Given the description of an element on the screen output the (x, y) to click on. 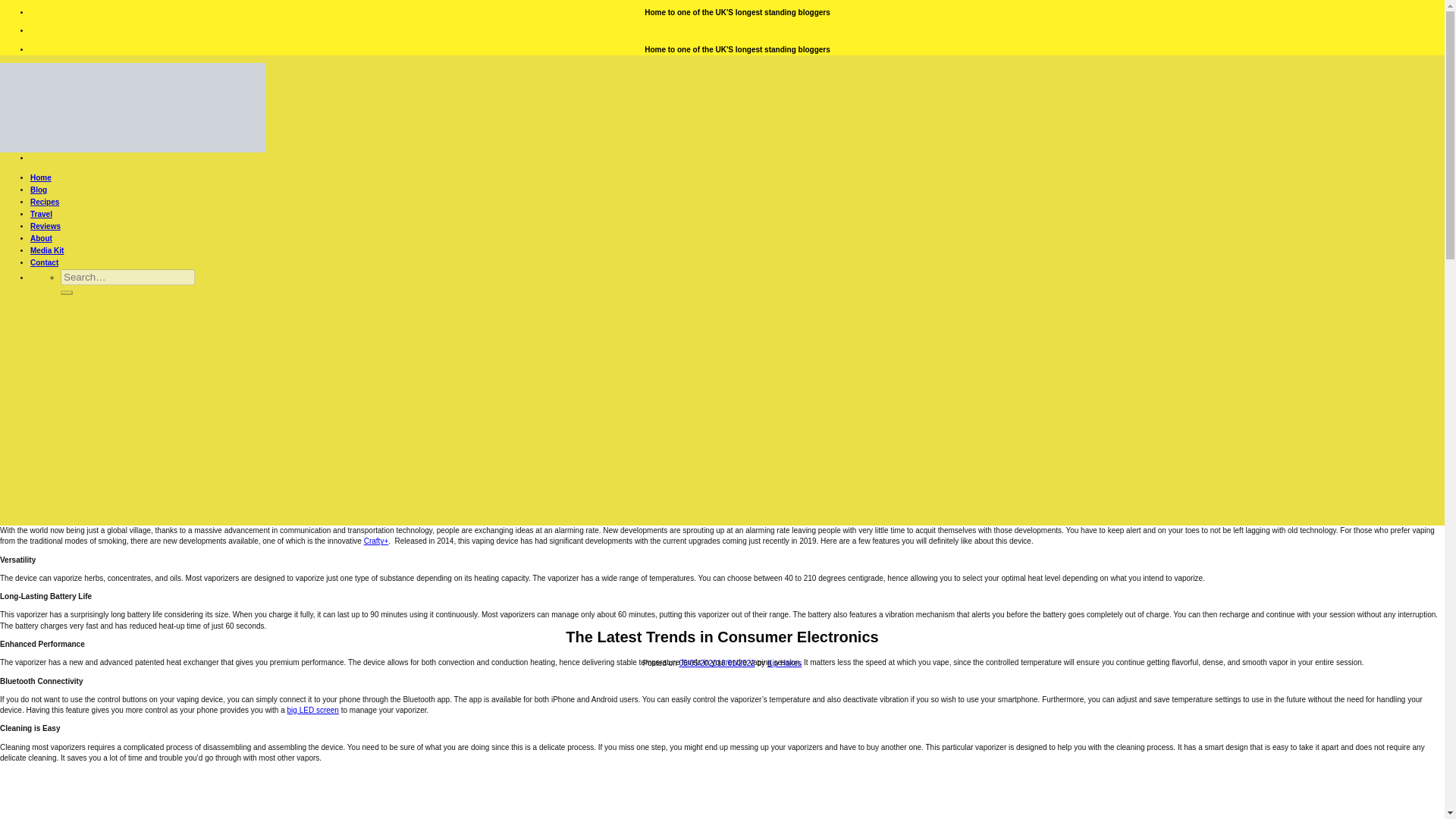
Home (40, 177)
Kip Hakes (784, 663)
About (41, 238)
Media Kit (47, 250)
Blog (38, 189)
Travel (41, 213)
Recipes (44, 202)
big LED screen (312, 709)
Reviews (45, 225)
Contact (44, 262)
